Given the description of an element on the screen output the (x, y) to click on. 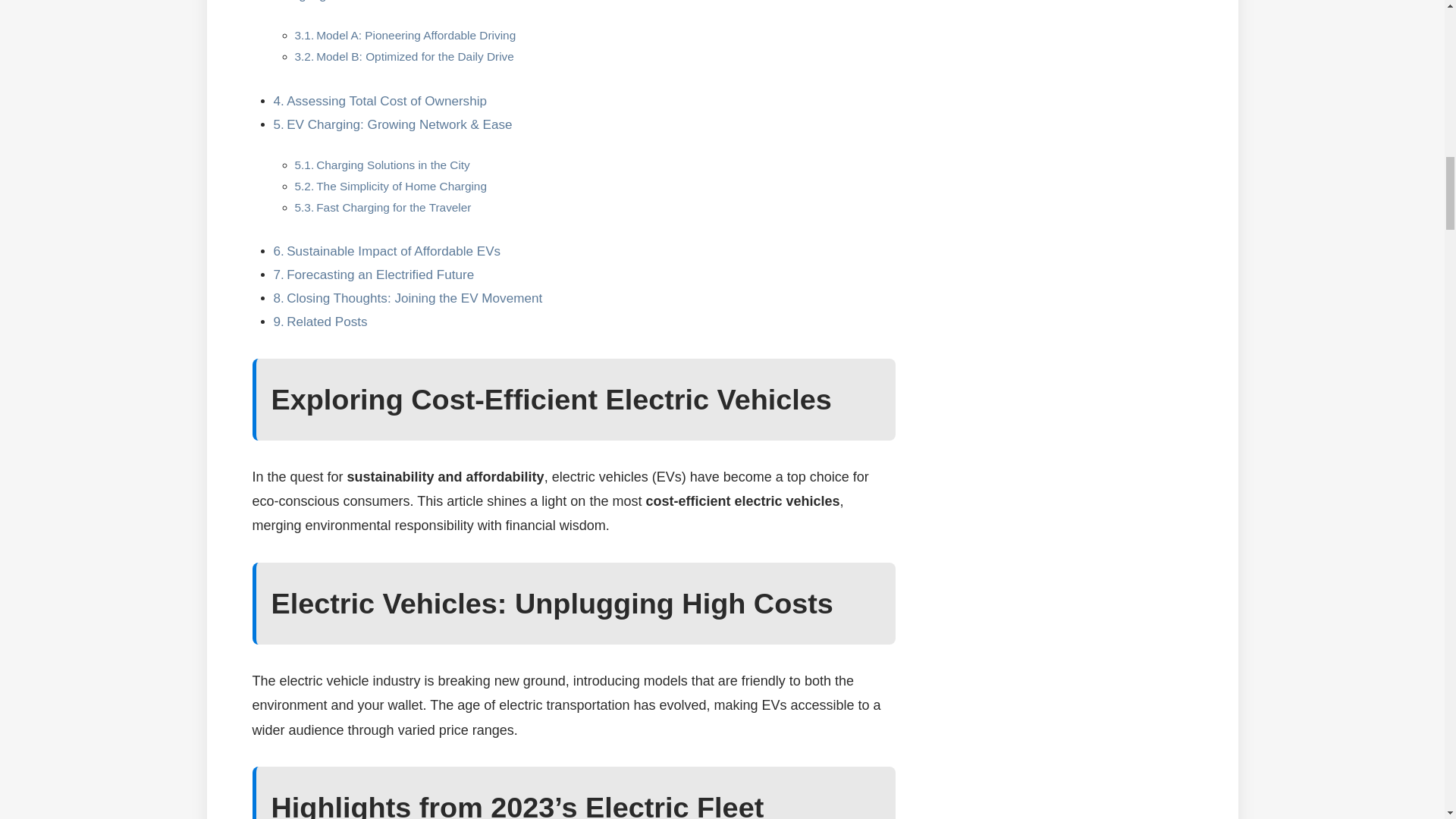
Model A: Pioneering Affordable Driving (415, 34)
The Simplicity of Home Charging (400, 185)
Sustainable Impact of Affordable EVs (393, 251)
Closing Thoughts: Joining the EV Movement (413, 298)
Assessing Total Cost of Ownership (386, 101)
Related Posts (326, 321)
Forecasting an Electrified Future (380, 274)
Model B: Optimized for the Daily Drive (414, 56)
Charging Solutions in the City (392, 164)
Related Posts (326, 321)
Fast Charging for the Traveler (392, 206)
Closing Thoughts: Joining the EV Movement (413, 298)
Sustainable Impact of Affordable EVs (393, 251)
Model A: Pioneering Affordable Driving (415, 34)
Forecasting an Electrified Future (380, 274)
